Given the description of an element on the screen output the (x, y) to click on. 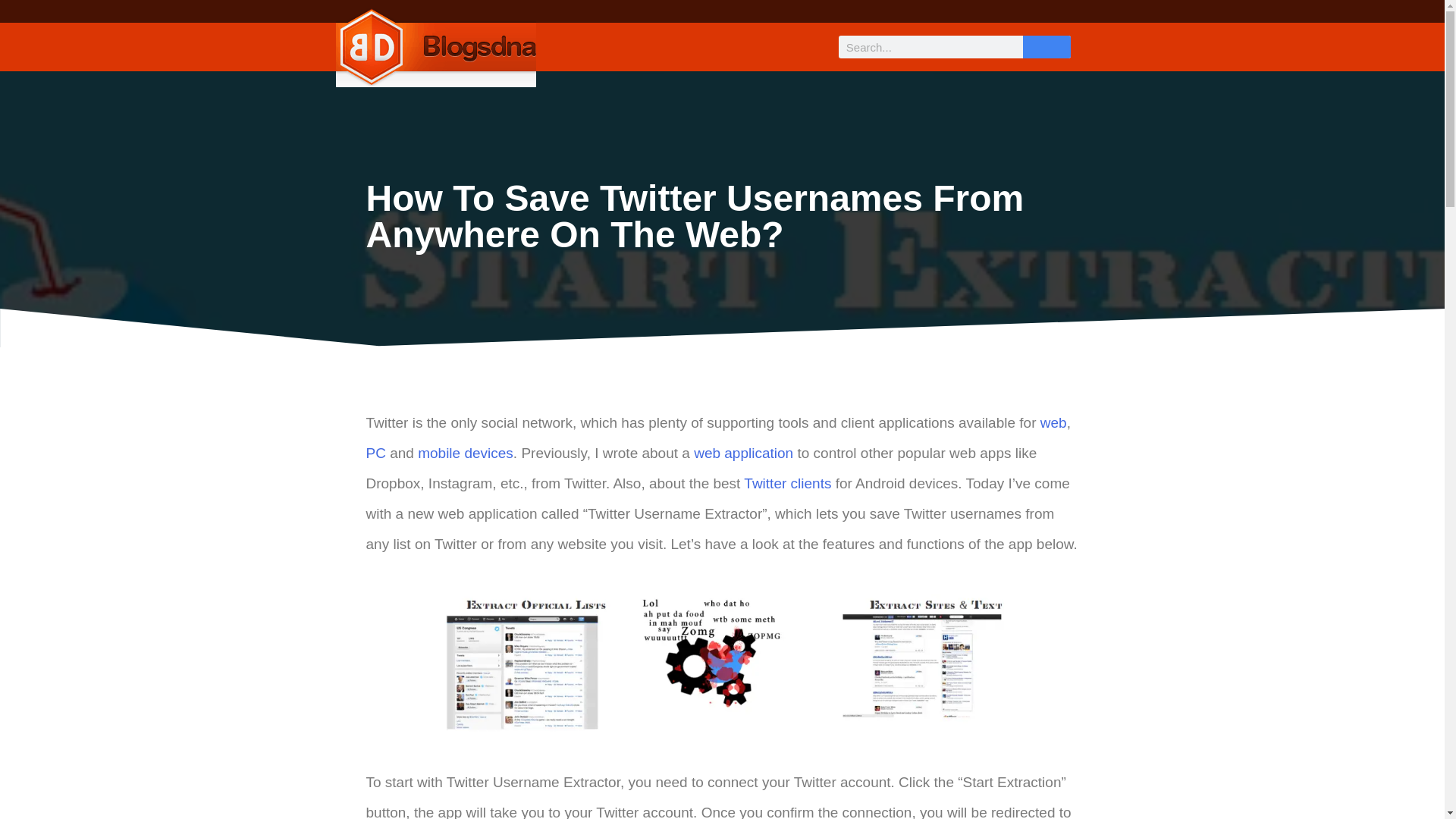
How To Set A Vacation Responder For Facebook and Twitter (1054, 422)
Twitter clients (787, 483)
5 Best Free Android Apps for Twitter Freaks (787, 483)
Search (1046, 47)
web (1054, 422)
mobile devices (465, 453)
logo-croped (434, 47)
PC (375, 453)
web application (743, 453)
